Given the description of an element on the screen output the (x, y) to click on. 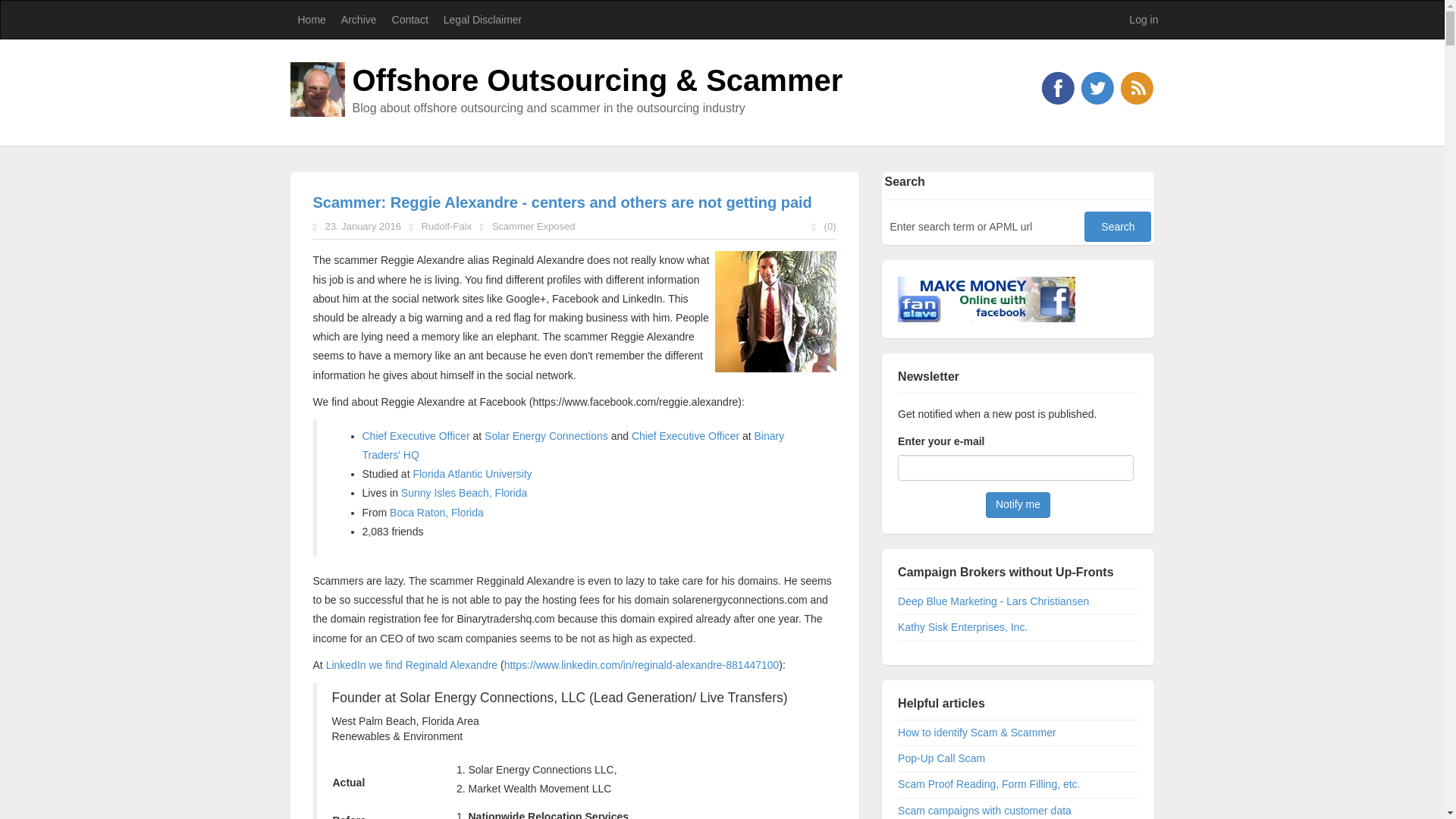
Enter search term or APML url (983, 226)
LinkedIn we find Reginald Alexandre (411, 664)
Search (1117, 226)
Solar Energy Connections (546, 435)
Scammer Exposed (533, 225)
Boca Raton, Florida (436, 512)
Sunny Isles Beach, Florida (464, 492)
Chief Executive Officer (685, 435)
Legal Disclaimer (481, 19)
Notify me (1017, 504)
